Given the description of an element on the screen output the (x, y) to click on. 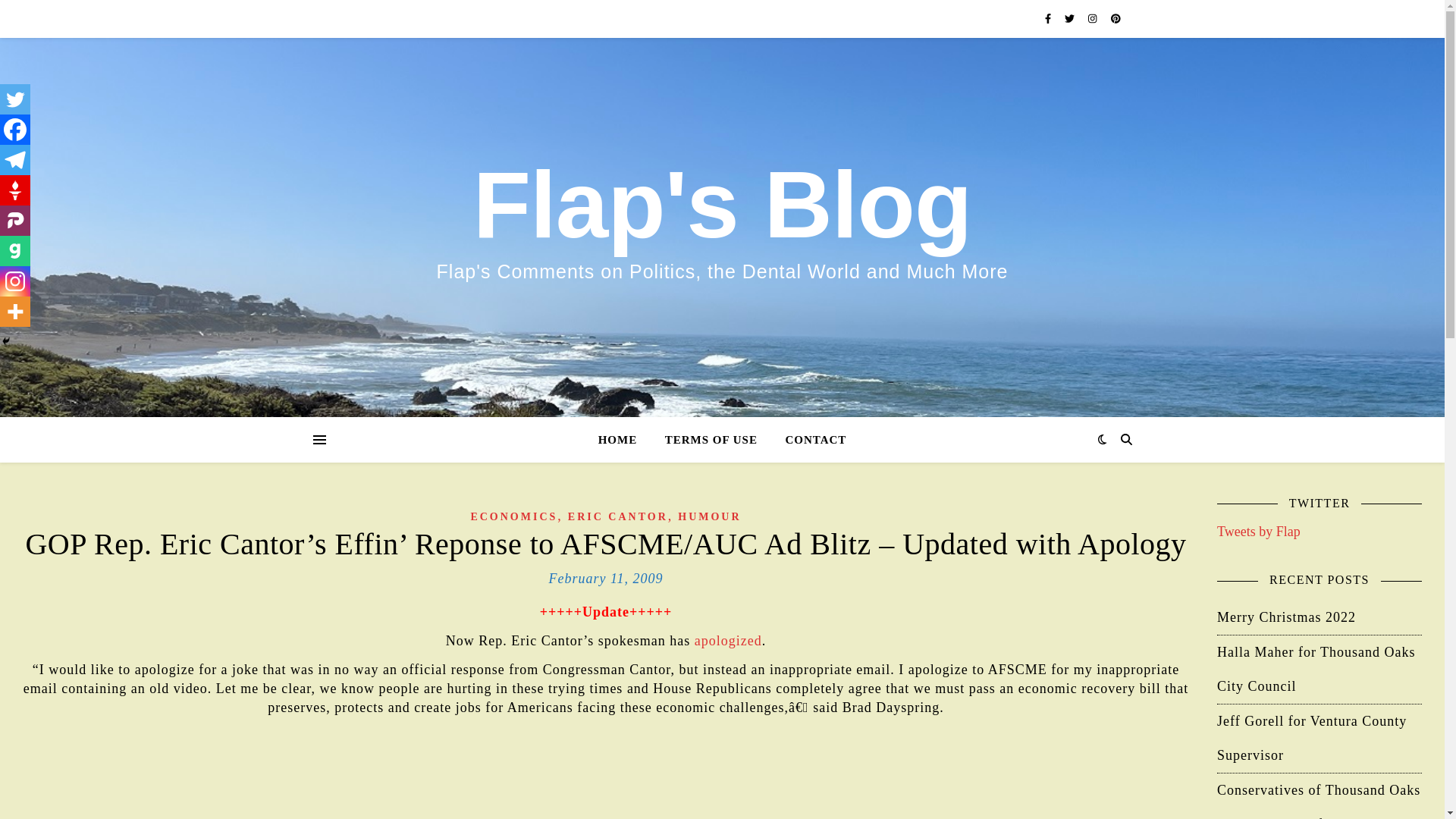
Gab (15, 250)
Merry Christmas 2022 (1286, 616)
HOME (623, 439)
TERMS OF USE (711, 439)
HUMOUR (709, 516)
More (15, 311)
Telegram (15, 159)
ECONOMICS (513, 516)
Gettr (15, 190)
Parler (15, 220)
Facebook (15, 129)
apologized (727, 640)
Instagram (15, 281)
Hide (5, 340)
CONTACT (809, 439)
